Given the description of an element on the screen output the (x, y) to click on. 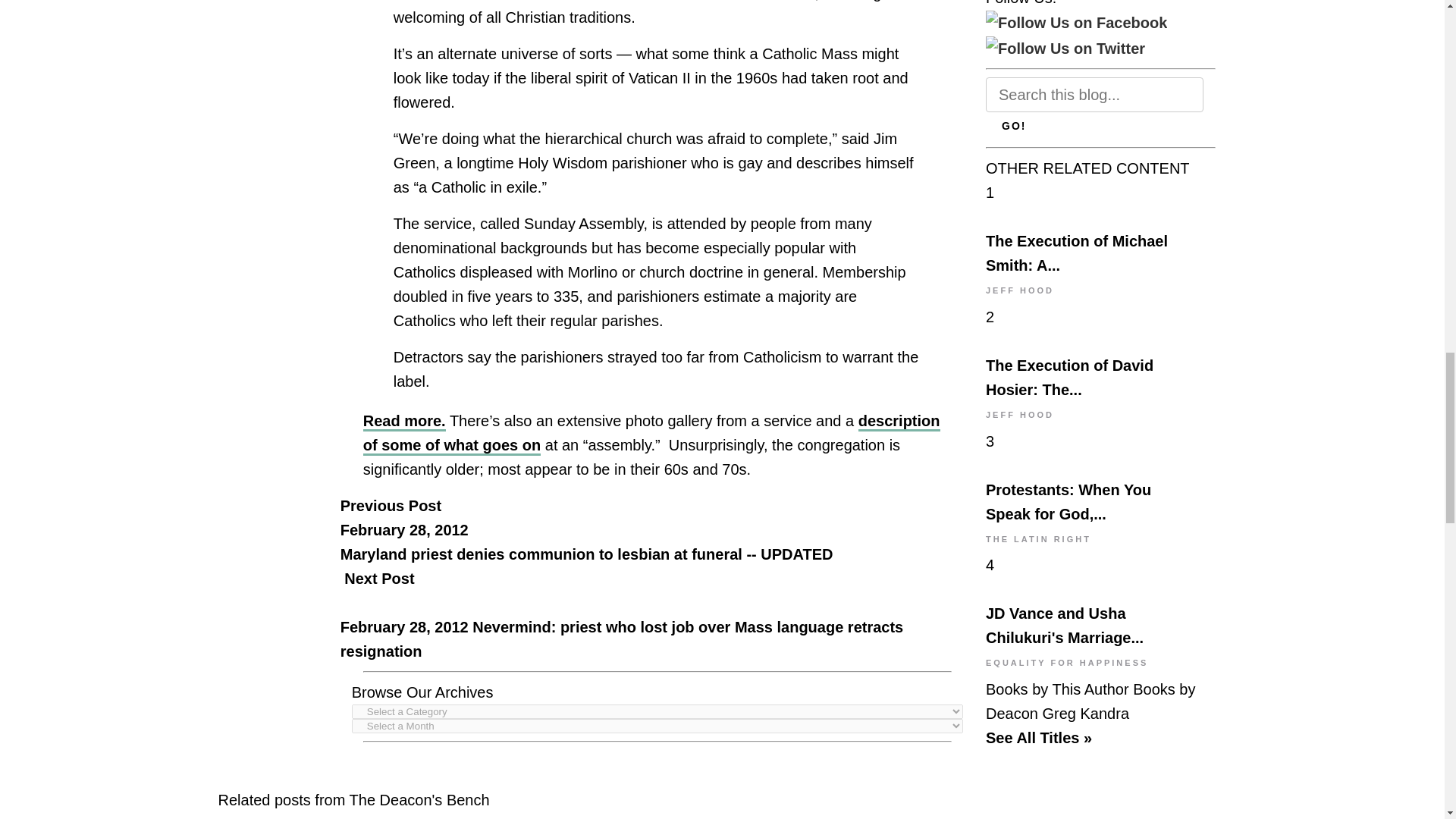
Follow Us on Facebook (1076, 22)
Follow Us on Twitter (1064, 48)
Go! (1013, 125)
